Given the description of an element on the screen output the (x, y) to click on. 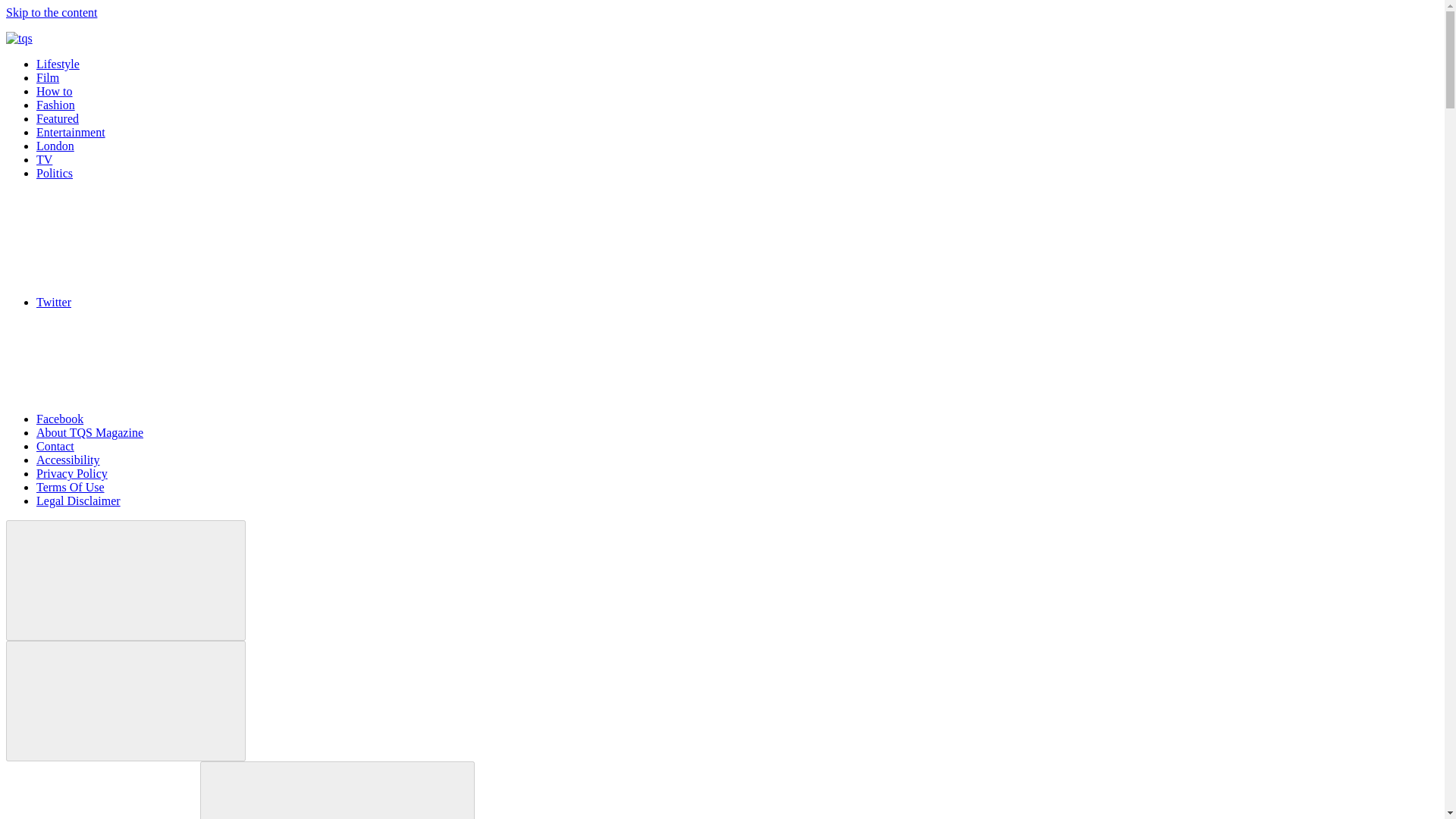
Privacy Policy (71, 472)
Accessibility (68, 459)
Terms Of Use (70, 486)
Politics (54, 173)
How to (54, 91)
Entertainment (70, 132)
Legal Disclaimer (78, 500)
Fashion (55, 104)
Contact (55, 445)
Facebook (173, 418)
